Given the description of an element on the screen output the (x, y) to click on. 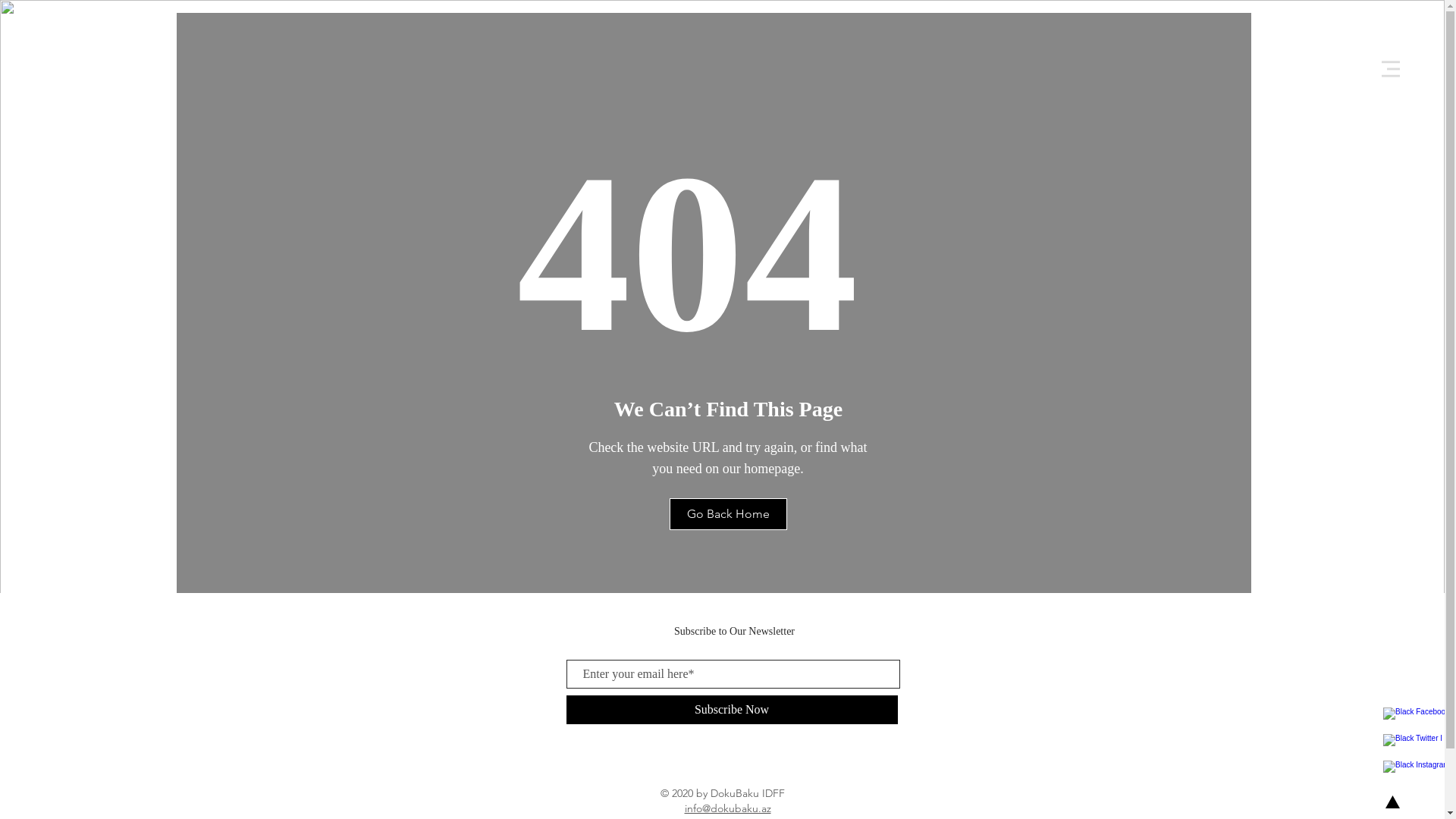
Go Back Home Element type: text (727, 514)
Subscribe Now Element type: text (731, 709)
info@dokubaku.az Element type: text (727, 808)
